Given the description of an element on the screen output the (x, y) to click on. 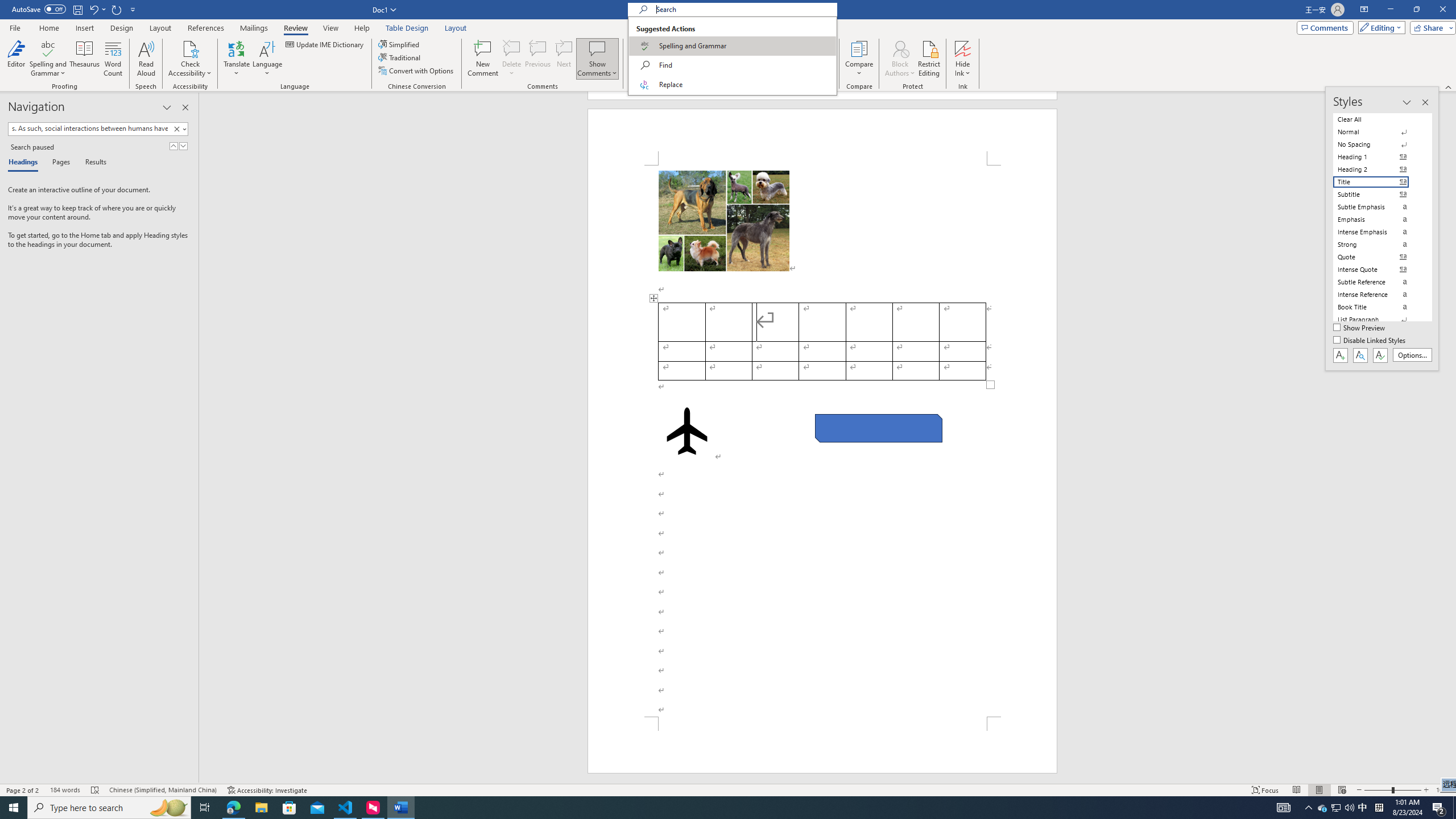
Quote (1377, 256)
Home (48, 28)
Open (731, 44)
Ribbon Display Options (1364, 9)
Track Changes (644, 58)
Read Aloud (145, 58)
Simplified (400, 44)
Translate (236, 58)
Spelling and Grammar (48, 58)
Reviewing Pane (694, 69)
Headings (25, 162)
Clear (178, 128)
Check Accessibility (189, 48)
Previous Result (173, 145)
Show Comments (597, 58)
